Given the description of an element on the screen output the (x, y) to click on. 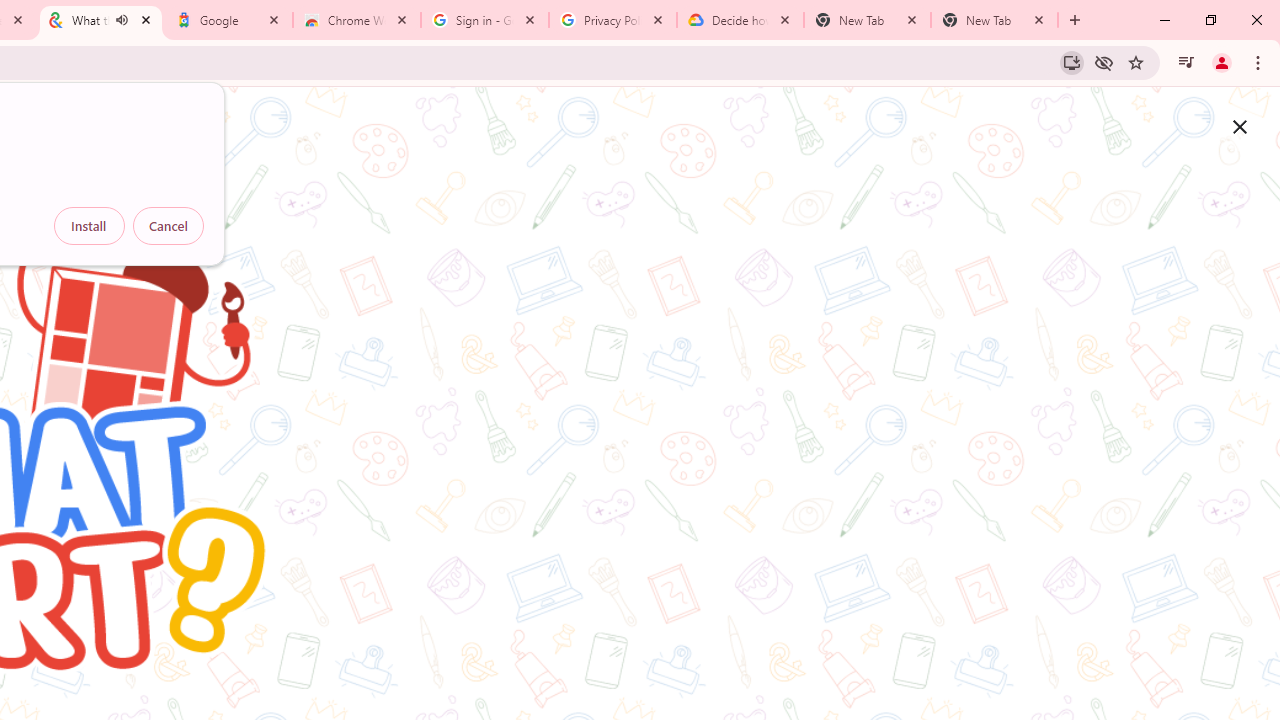
Size (228, 246)
Title (228, 347)
Pages (228, 271)
Total Editing Time (228, 321)
Tags (228, 372)
Add an author (142, 683)
Words (228, 297)
